Given the description of an element on the screen output the (x, y) to click on. 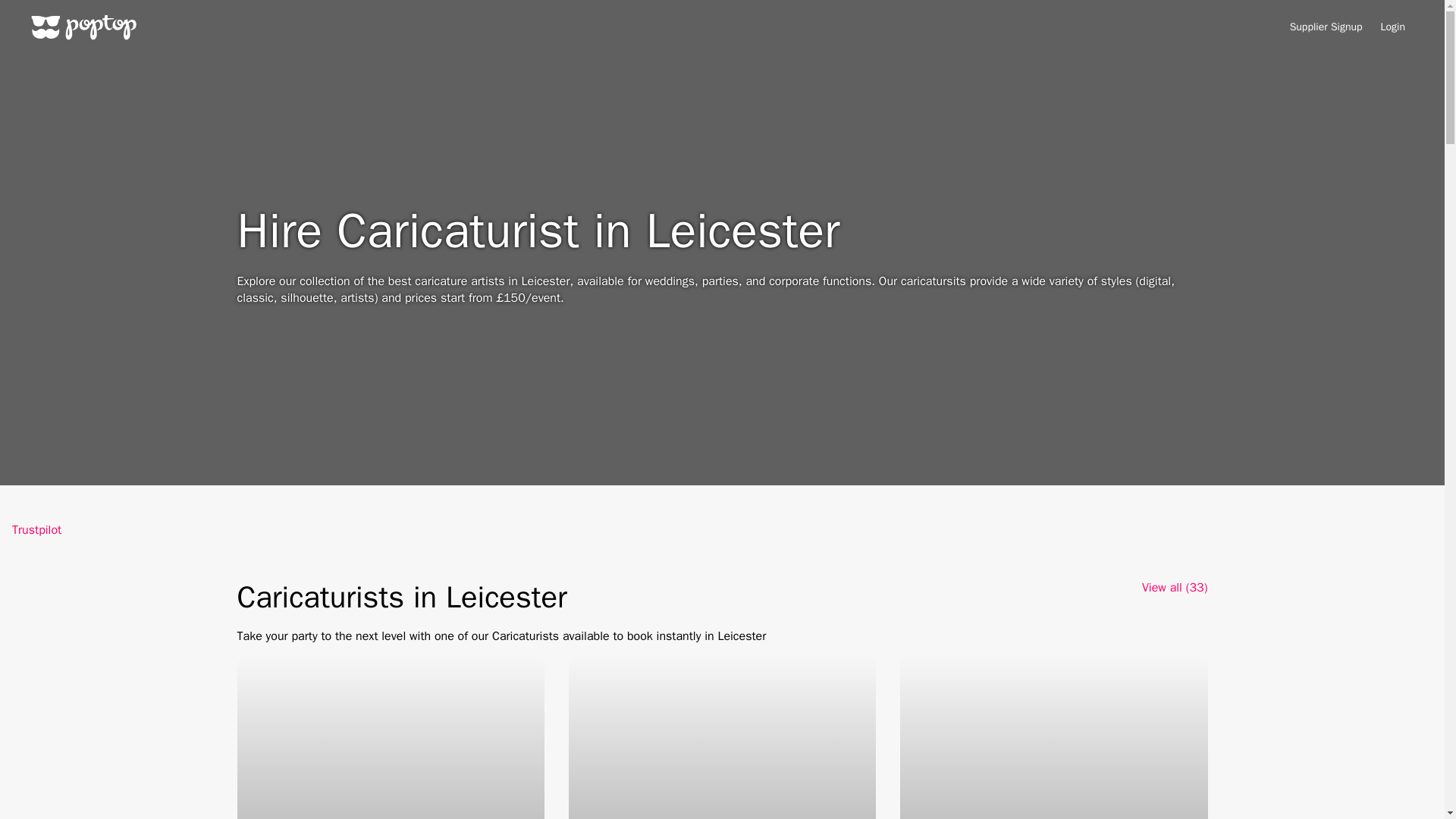
Trustpilot (36, 529)
Supplier Signup (1326, 26)
Login (1392, 26)
